Given the description of an element on the screen output the (x, y) to click on. 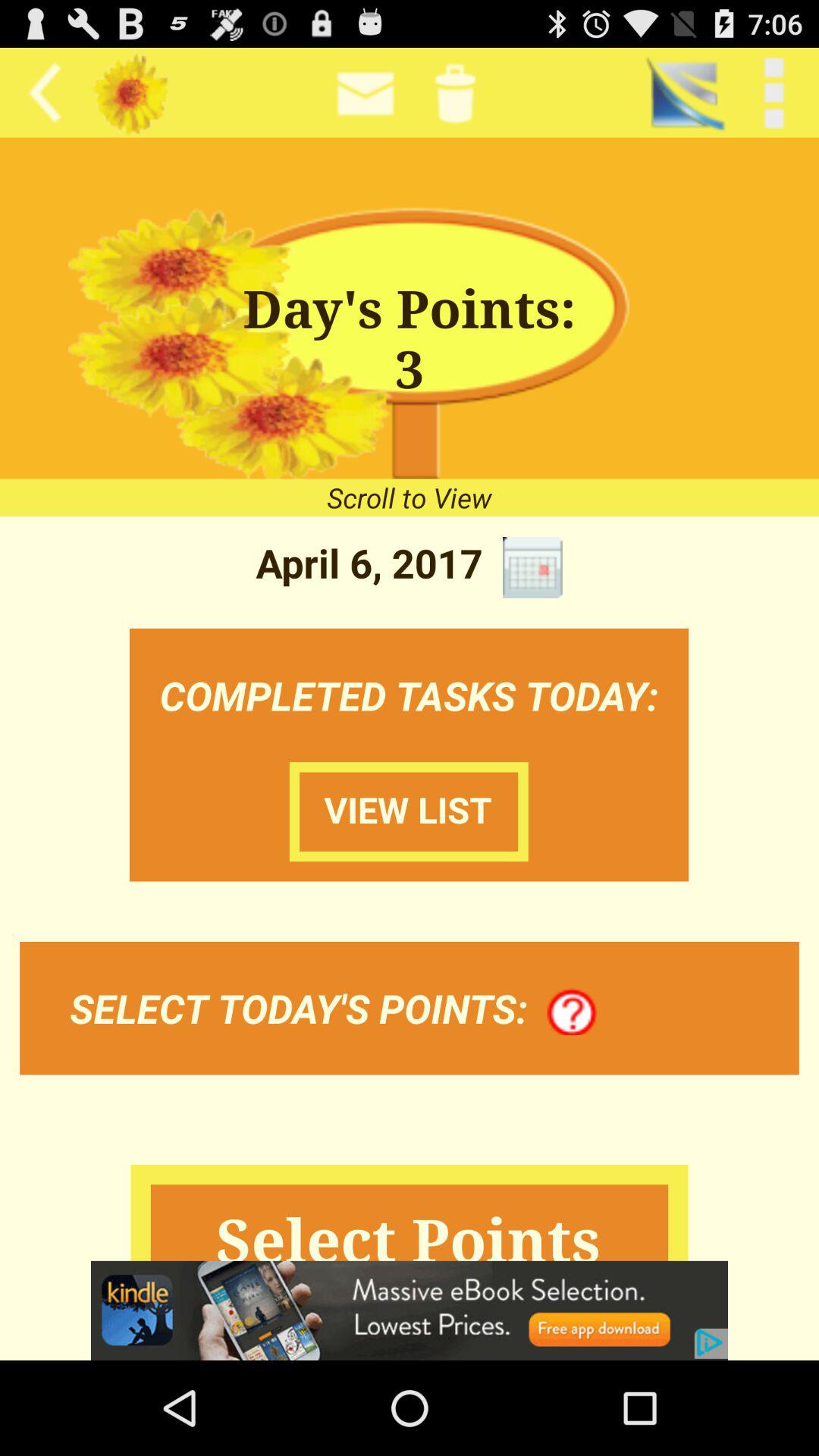
helpful hint (572, 1012)
